Given the description of an element on the screen output the (x, y) to click on. 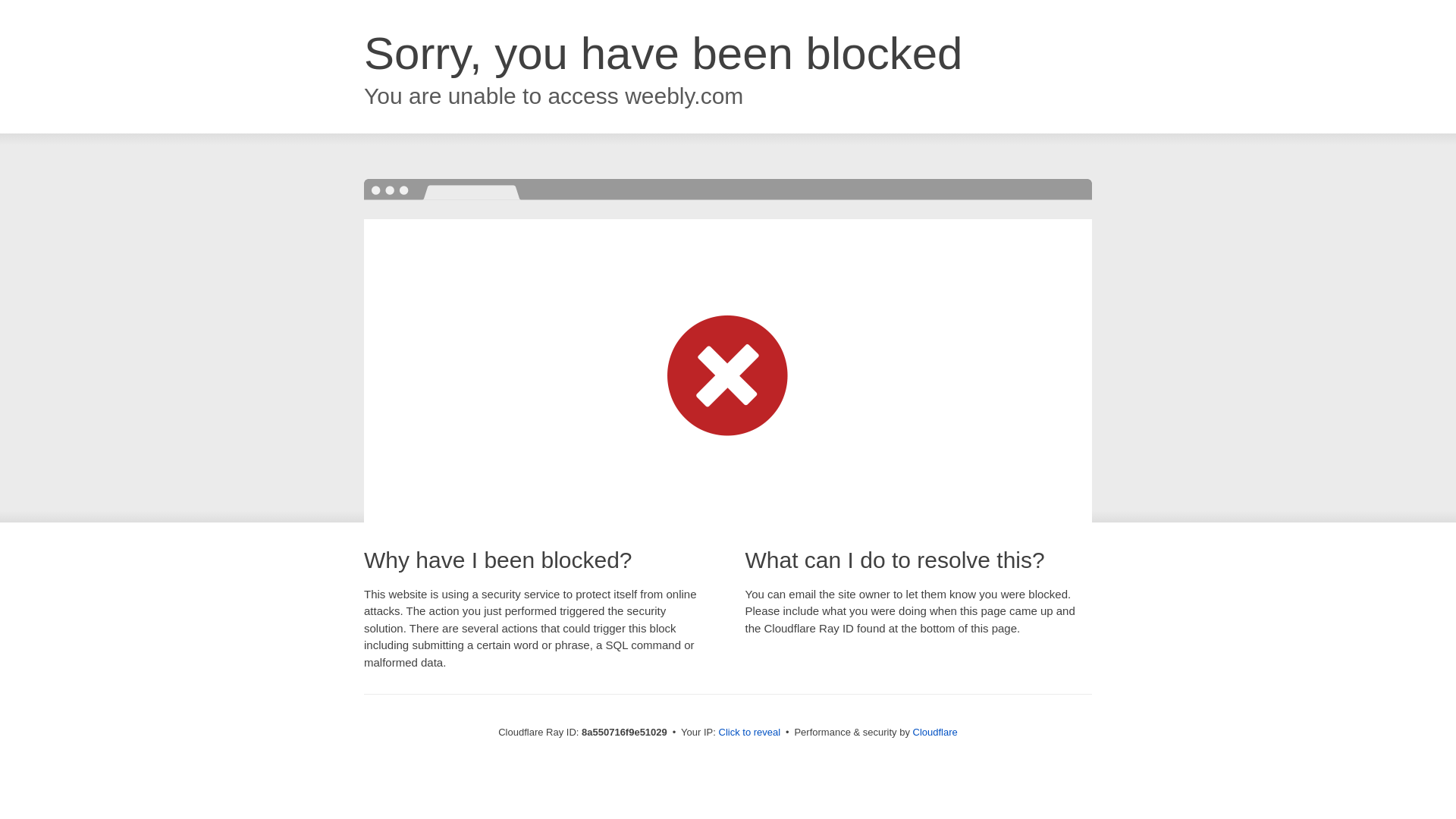
Click to reveal (749, 732)
Cloudflare (935, 731)
